Given the description of an element on the screen output the (x, y) to click on. 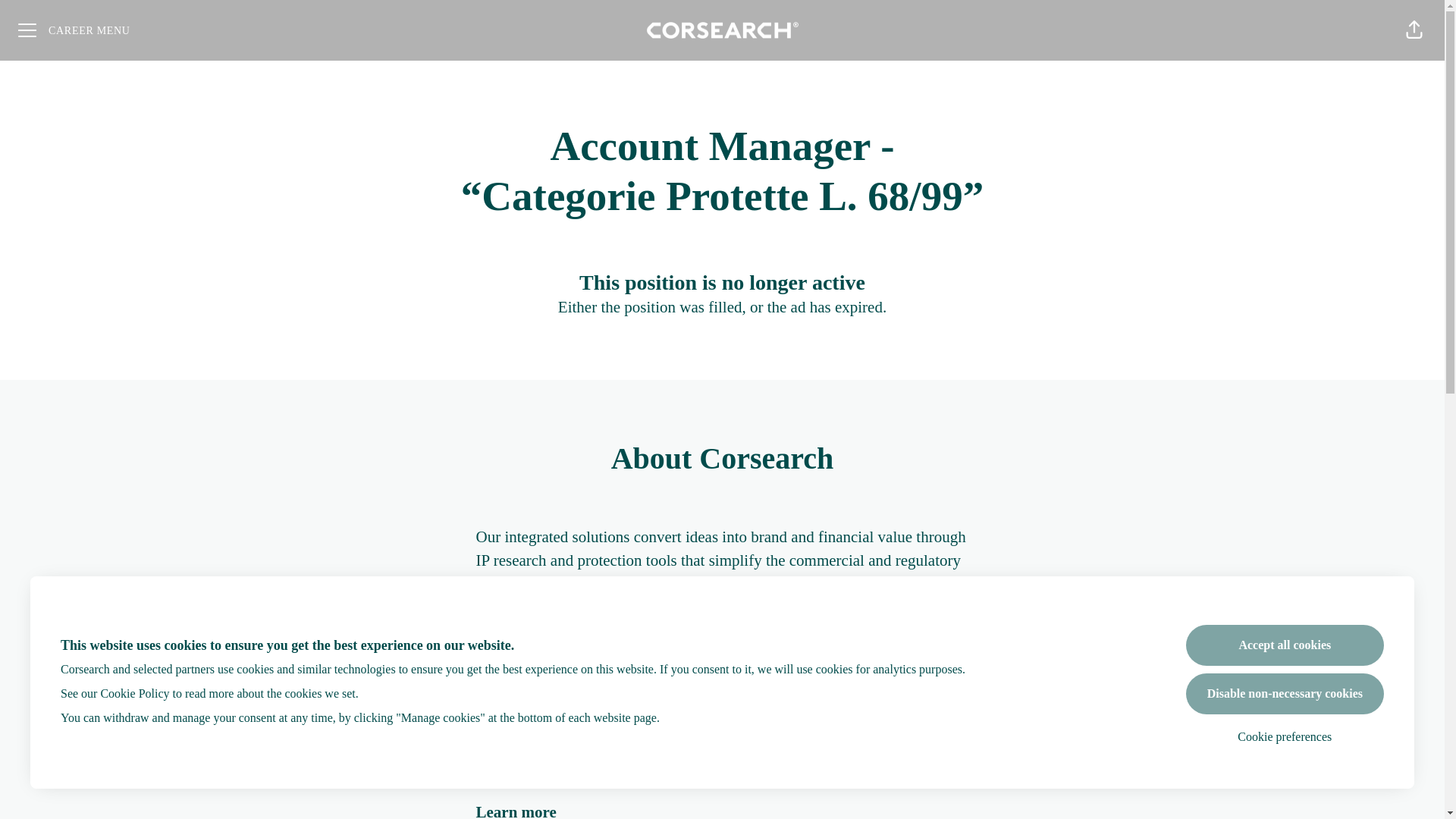
CAREER MENU (73, 30)
Disable non-necessary cookies (1285, 693)
Accept all cookies (1285, 644)
Learn more (516, 811)
Share page (1414, 30)
Career menu (73, 30)
Cookie preferences (1284, 736)
Cookie Policy (134, 693)
